Given the description of an element on the screen output the (x, y) to click on. 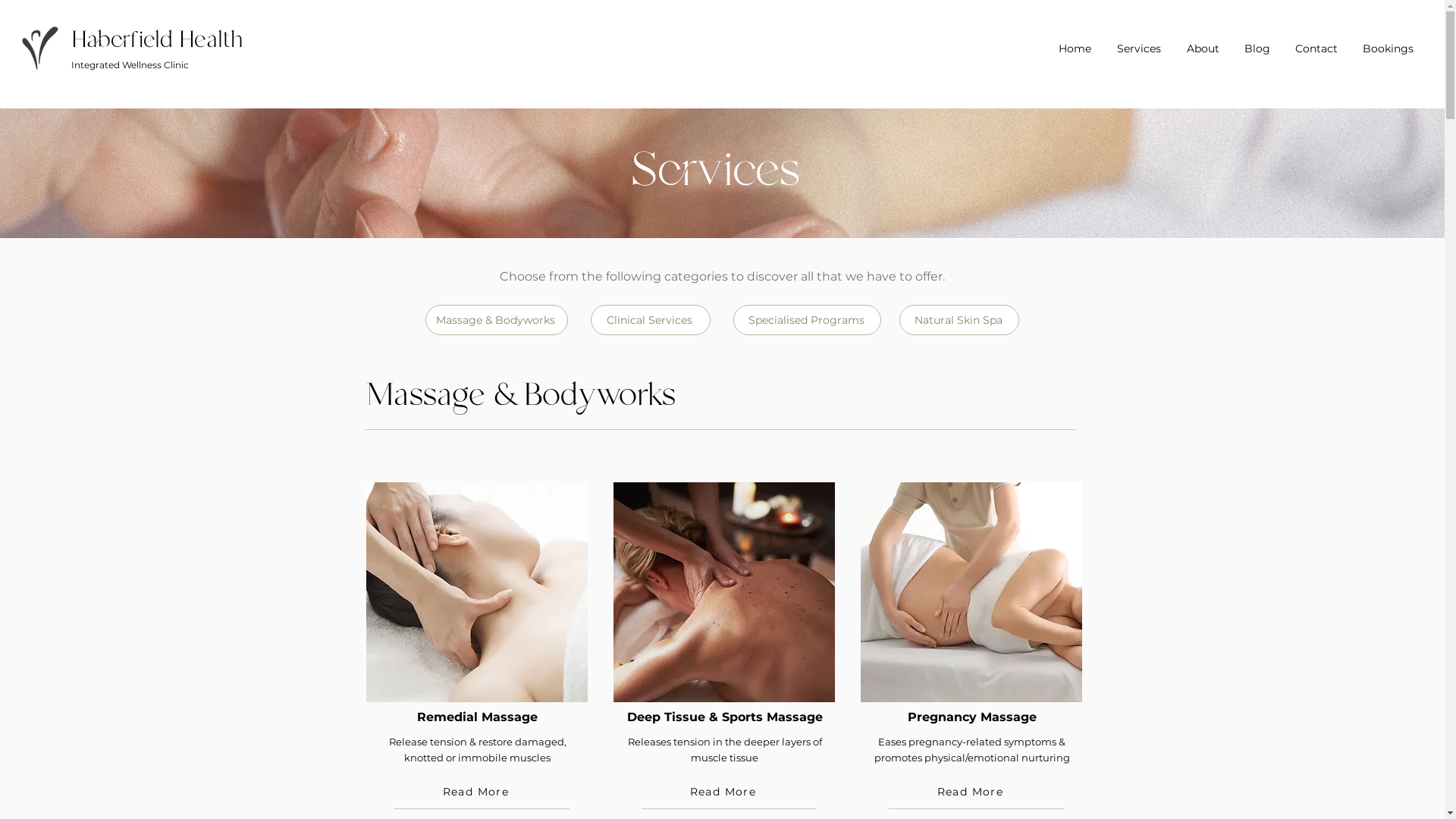
About Element type: text (1202, 41)
Pregnancy Massage_edited.jpg Element type: hover (970, 592)
Blog Element type: text (1256, 41)
Clinical Services Element type: text (649, 319)
Read More Element type: text (476, 791)
Massage & Bodyworks Element type: text (495, 319)
Untitled design (23).png Element type: hover (38, 46)
Home Element type: text (1074, 41)
Read More Element type: text (724, 791)
Read More Element type: text (971, 791)
Integrated Wellness Clinic Element type: text (129, 64)
Services Element type: text (1138, 41)
Acupressure Neck Massage.jpg Element type: hover (476, 592)
Contact Element type: text (1315, 41)
Natural Skin Spa Element type: text (959, 319)
Bookings Element type: text (1387, 41)
Haberfield Health Element type: text (156, 39)
Specialised Programs Element type: text (806, 319)
Neck Massage_edited.jpg Element type: hover (723, 592)
